Given the description of an element on the screen output the (x, y) to click on. 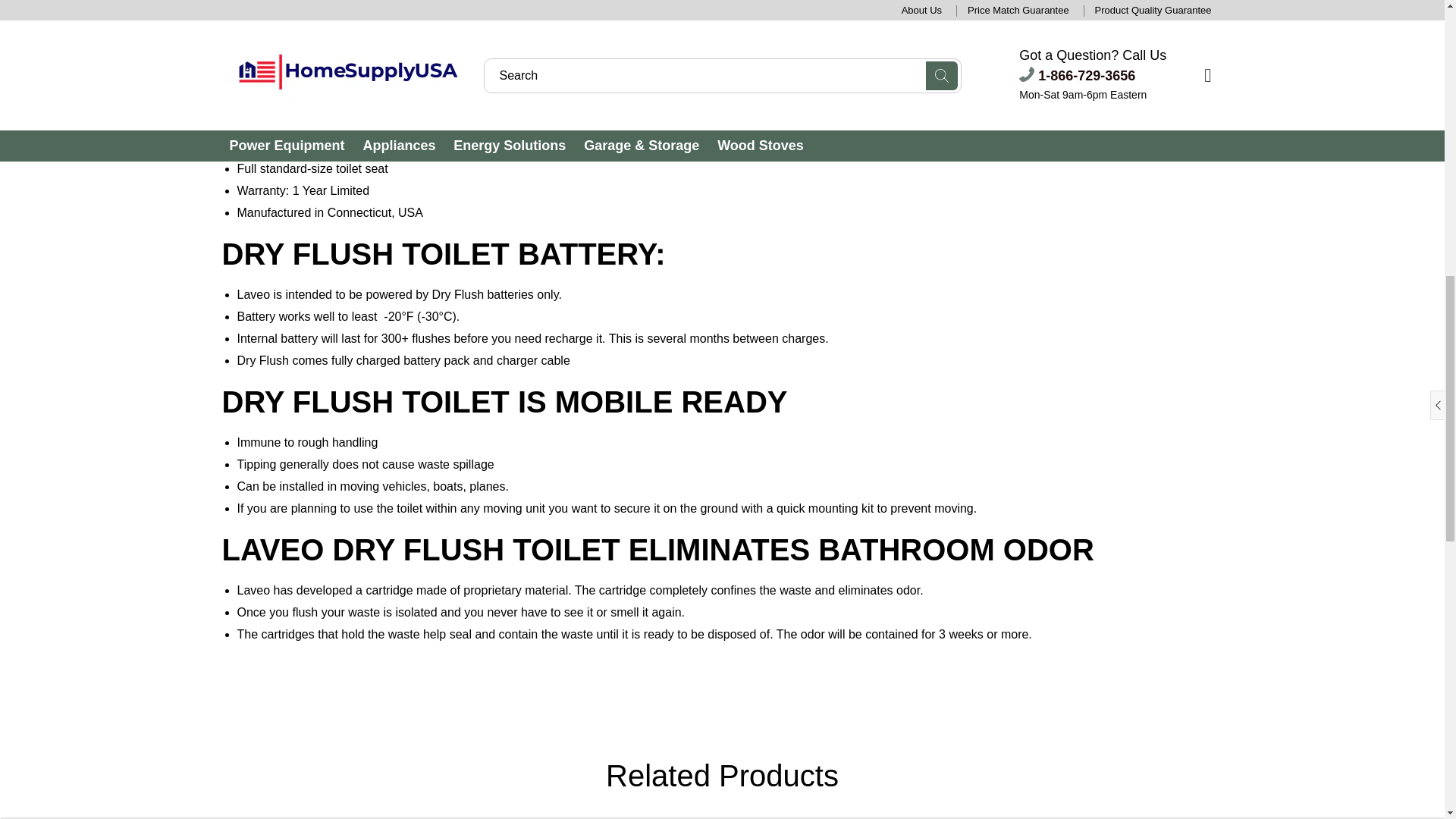
1 (904, 30)
